Given the description of an element on the screen output the (x, y) to click on. 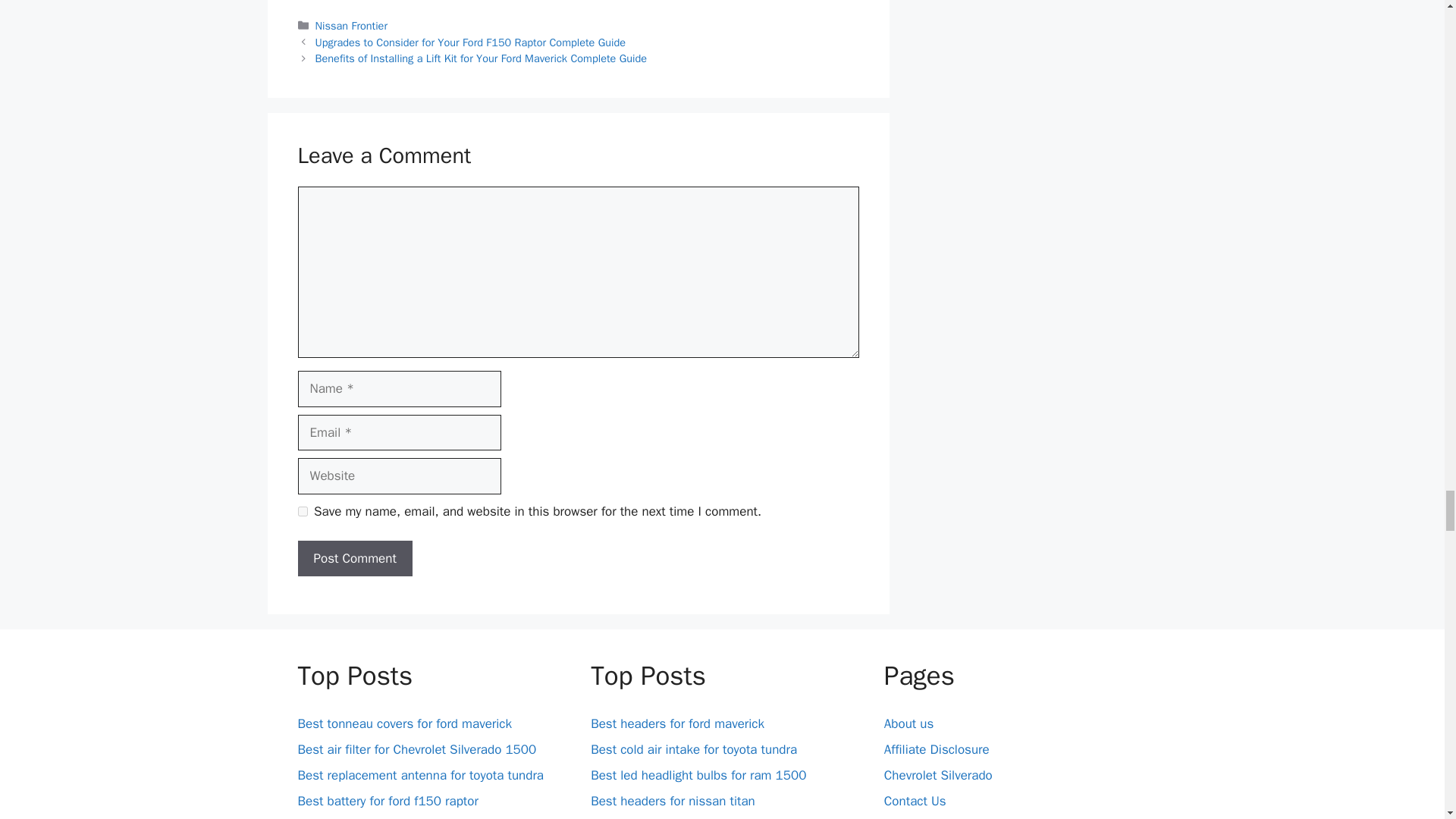
Best tonneau covers for ford maverick (404, 723)
Post Comment (354, 558)
Best air filter for Chevrolet Silverado 1500 (416, 749)
yes (302, 511)
Best replacement antenna for toyota tundra (420, 774)
Post Comment (354, 558)
Nissan Frontier (351, 25)
Best battery for ford f150 raptor (387, 801)
